Given the description of an element on the screen output the (x, y) to click on. 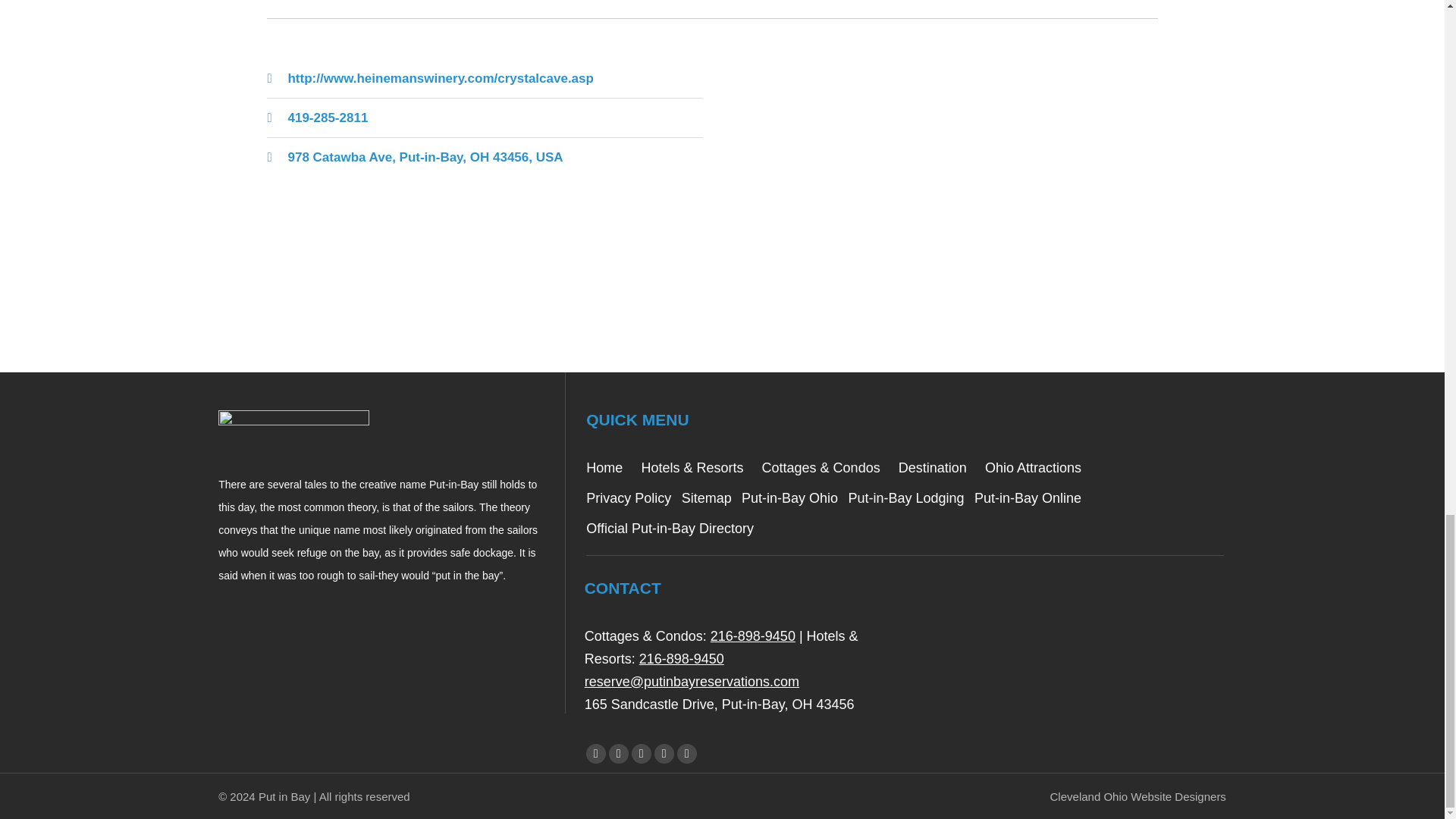
YouTube page opens in new window (640, 753)
Pinterest page opens in new window (663, 753)
Cleveland Ohio Website Designers (1137, 795)
X page opens in new window (618, 753)
Instagram page opens in new window (687, 753)
978 Catawba Ave, Put-in-Bay, OH 43456, USA (939, 181)
Facebook page opens in new window (595, 753)
